Given the description of an element on the screen output the (x, y) to click on. 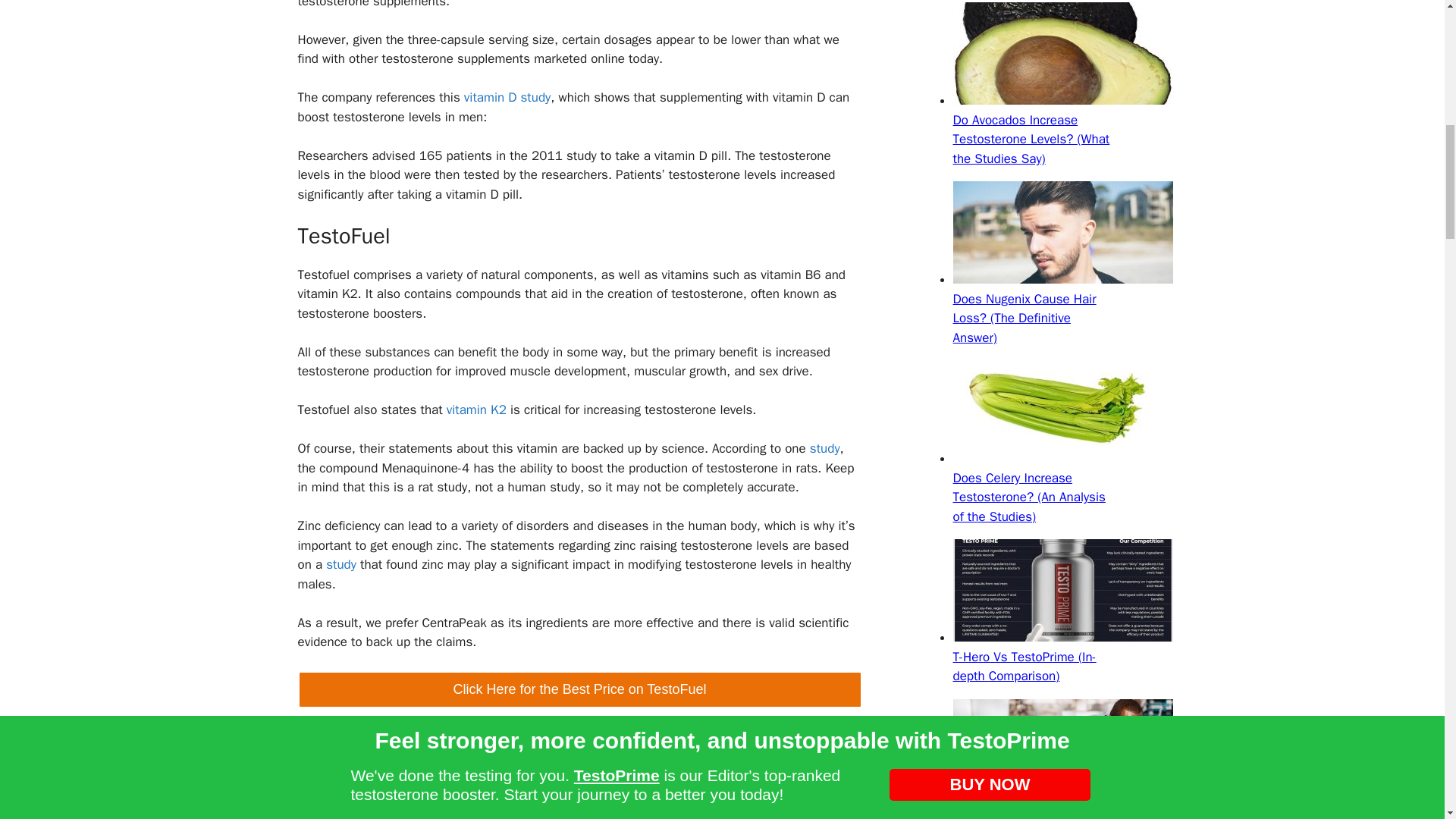
Click Here for the Best Price on TestoFuel (579, 689)
vitamin D study (507, 97)
vitamin K2 (476, 409)
study (338, 564)
study (824, 448)
